Given the description of an element on the screen output the (x, y) to click on. 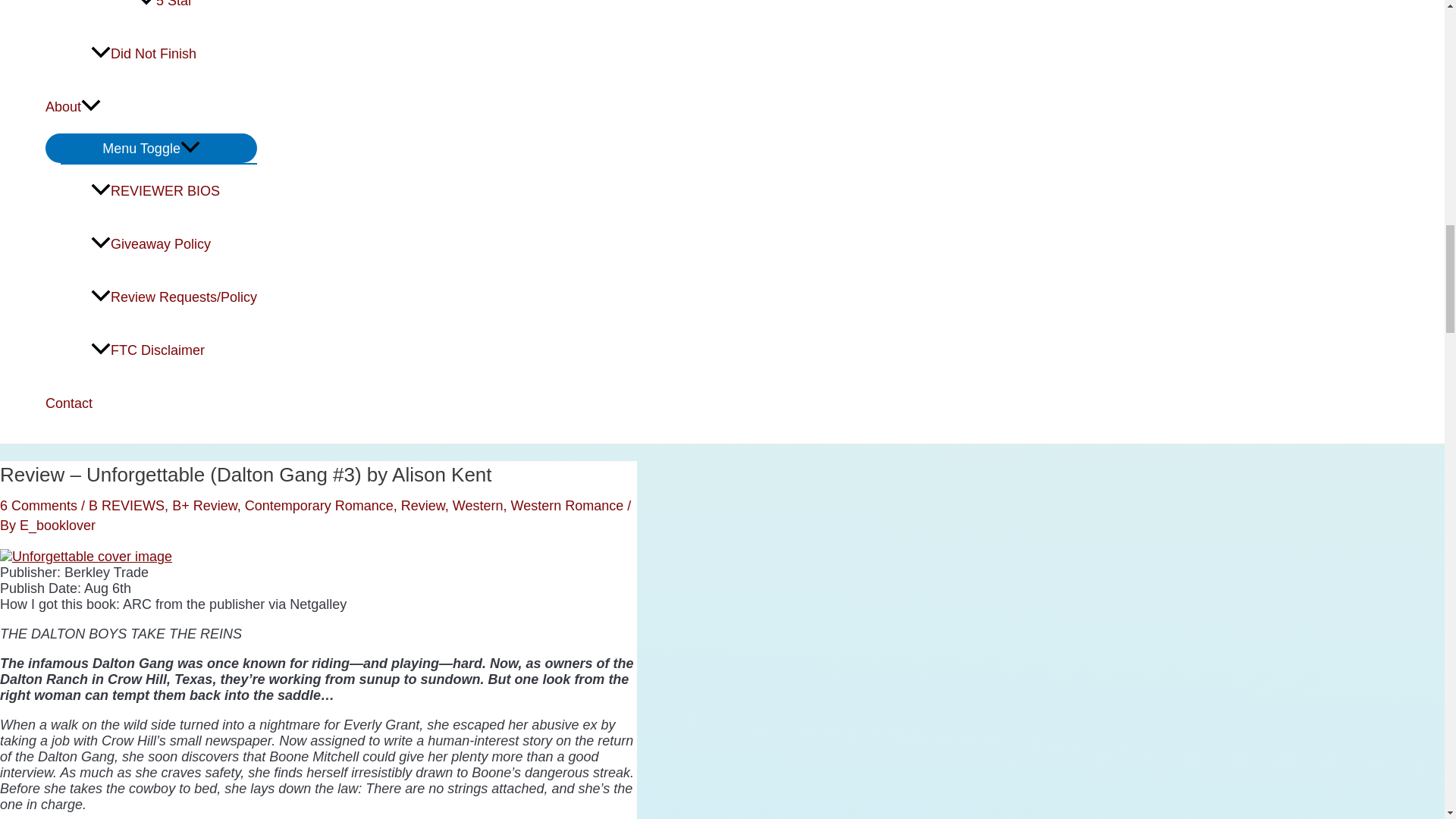
Menu Toggle (151, 147)
About (151, 106)
5 Star (196, 13)
Did Not Finish (173, 53)
Giveaway Policy (173, 244)
REVIEWER BIOS (173, 190)
